Given the description of an element on the screen output the (x, y) to click on. 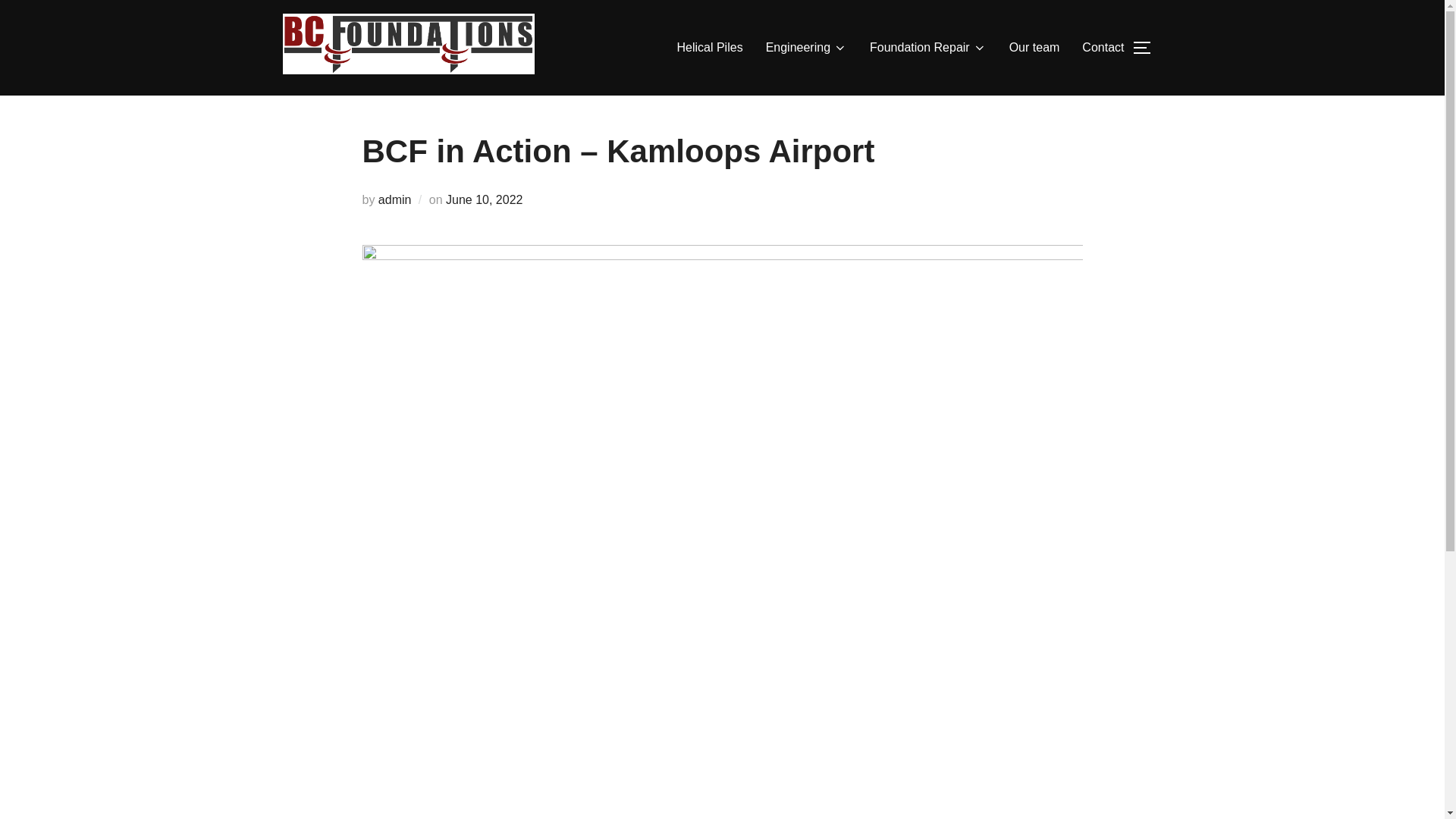
TOGGLE SIDEBAR & NAVIGATION Element type: text (1146, 47)
Engineering Element type: text (806, 47)
Foundation Repair Element type: text (927, 47)
Helical Piles Element type: text (709, 47)
admin Element type: text (394, 199)
June 10, 2022 Element type: text (483, 199)
Contact Element type: text (1102, 47)
Our team Element type: text (1034, 47)
